Given the description of an element on the screen output the (x, y) to click on. 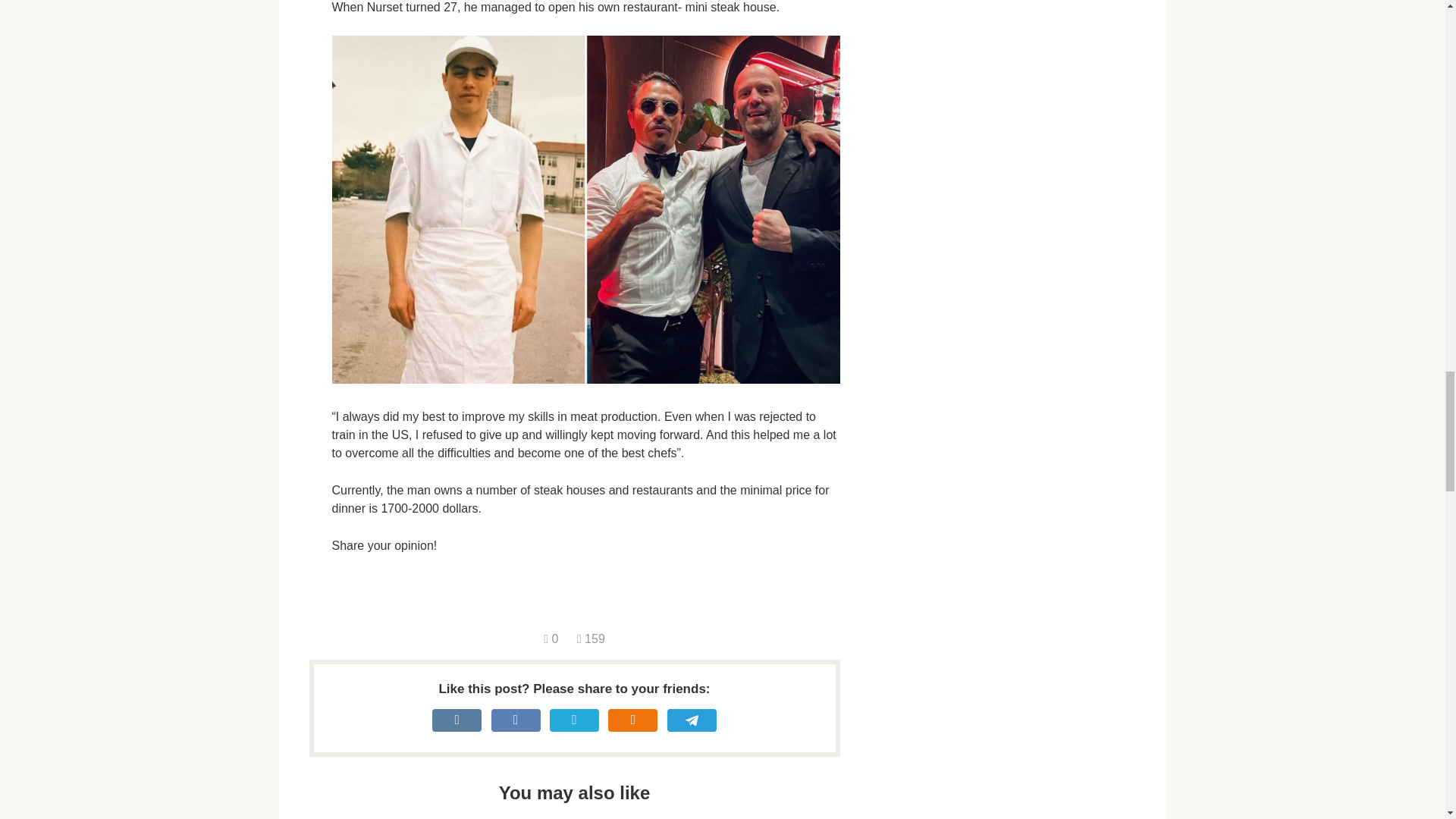
Comments (550, 638)
Views (590, 638)
